Given the description of an element on the screen output the (x, y) to click on. 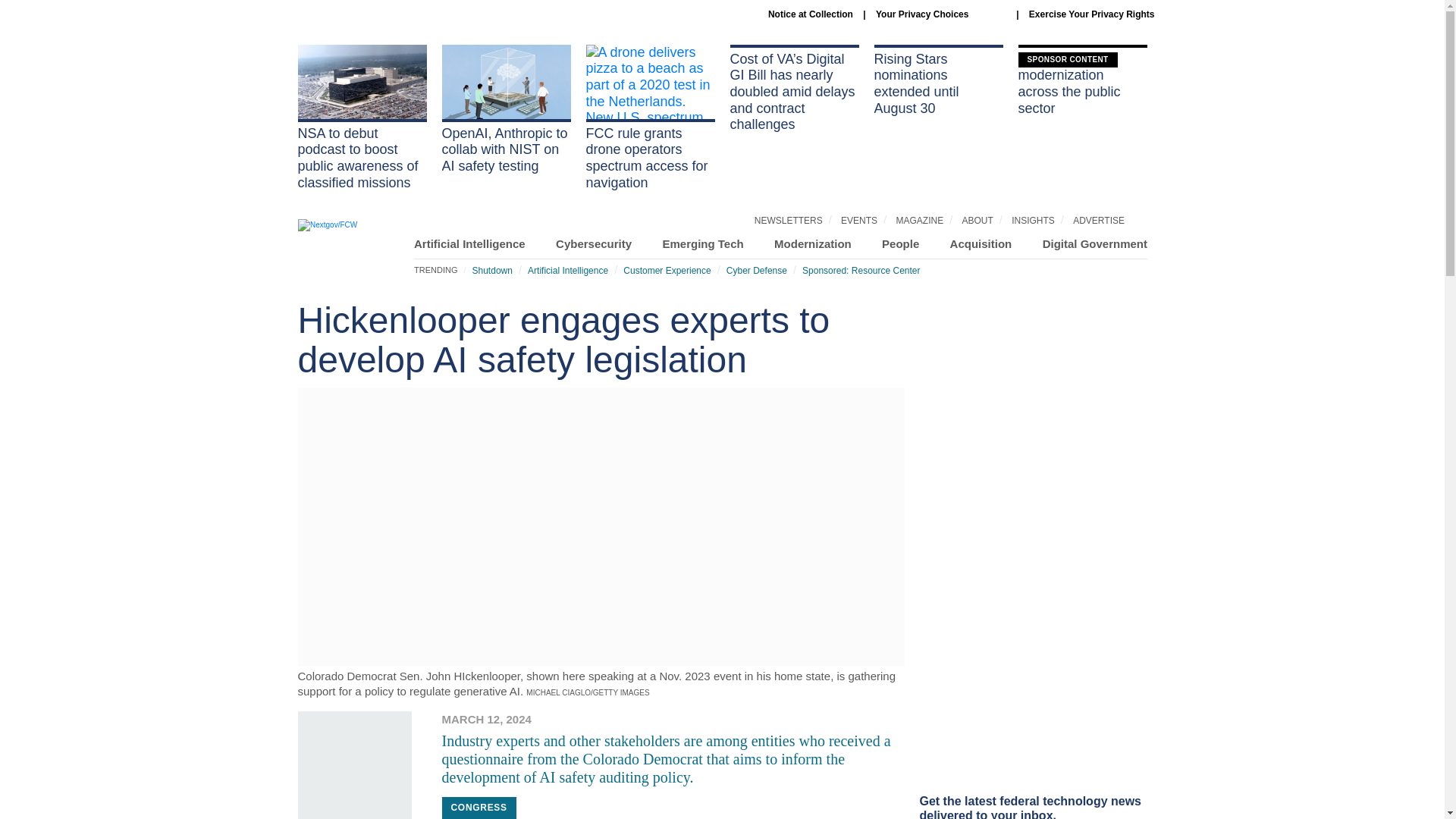
Artificial Intelligence (567, 270)
Customer Experience (666, 270)
Cyber Defense (755, 270)
Emerging Tech (702, 243)
INSIGHTS (1032, 220)
People (900, 243)
Artificial Intelligence (469, 243)
Rising Stars nominations extended until August 30 (938, 81)
ADVERTISE (1098, 220)
